Given the description of an element on the screen output the (x, y) to click on. 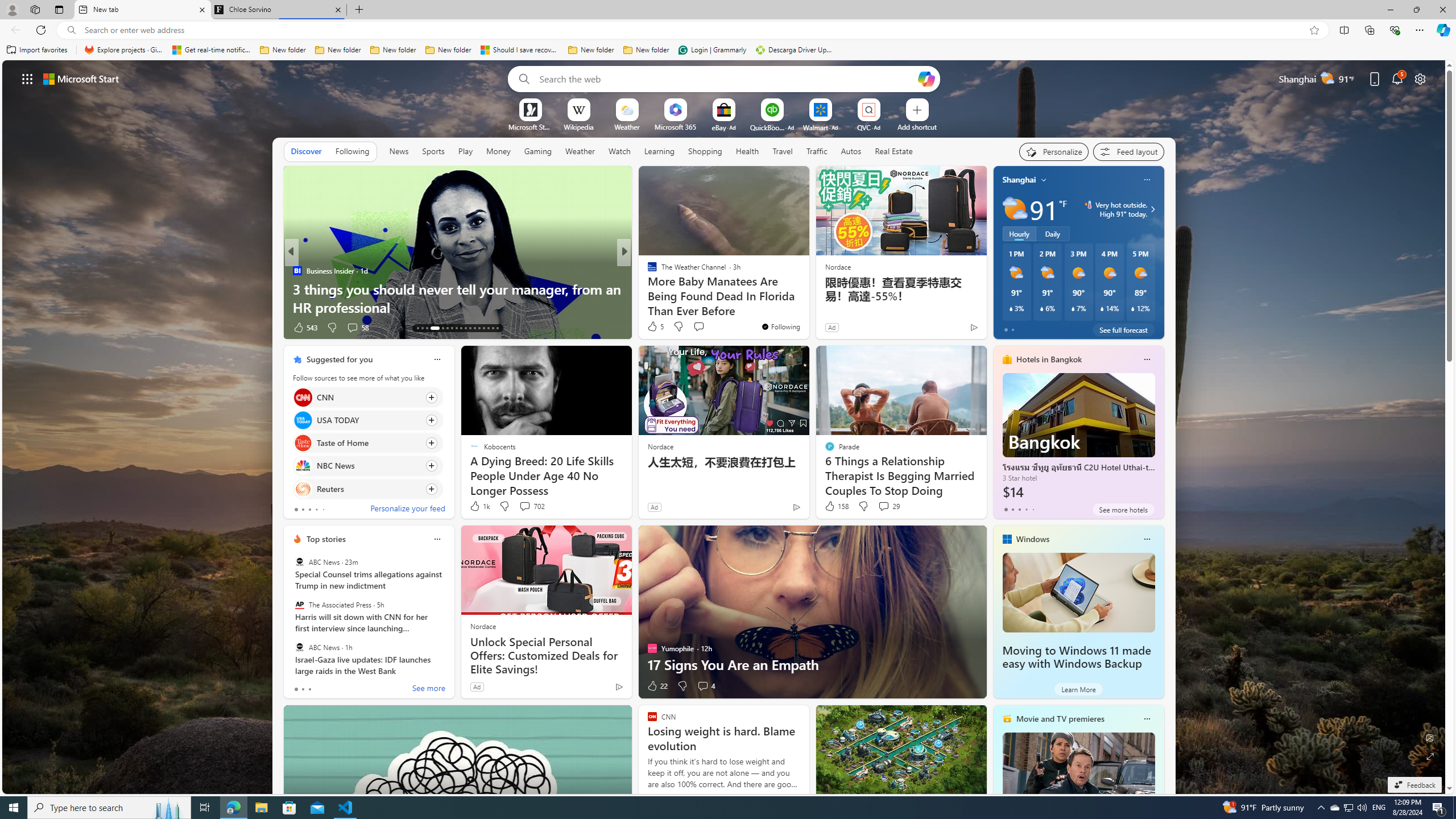
How to Survive (647, 288)
Traffic (816, 151)
Microsoft start (81, 78)
Expand background (1430, 756)
View comments 7 Comment (698, 327)
Women's Health (296, 270)
View comments 29 Comment (888, 505)
Don't Use an Ordinary Backpack (807, 307)
The Associated Press (299, 604)
